Given the description of an element on the screen output the (x, y) to click on. 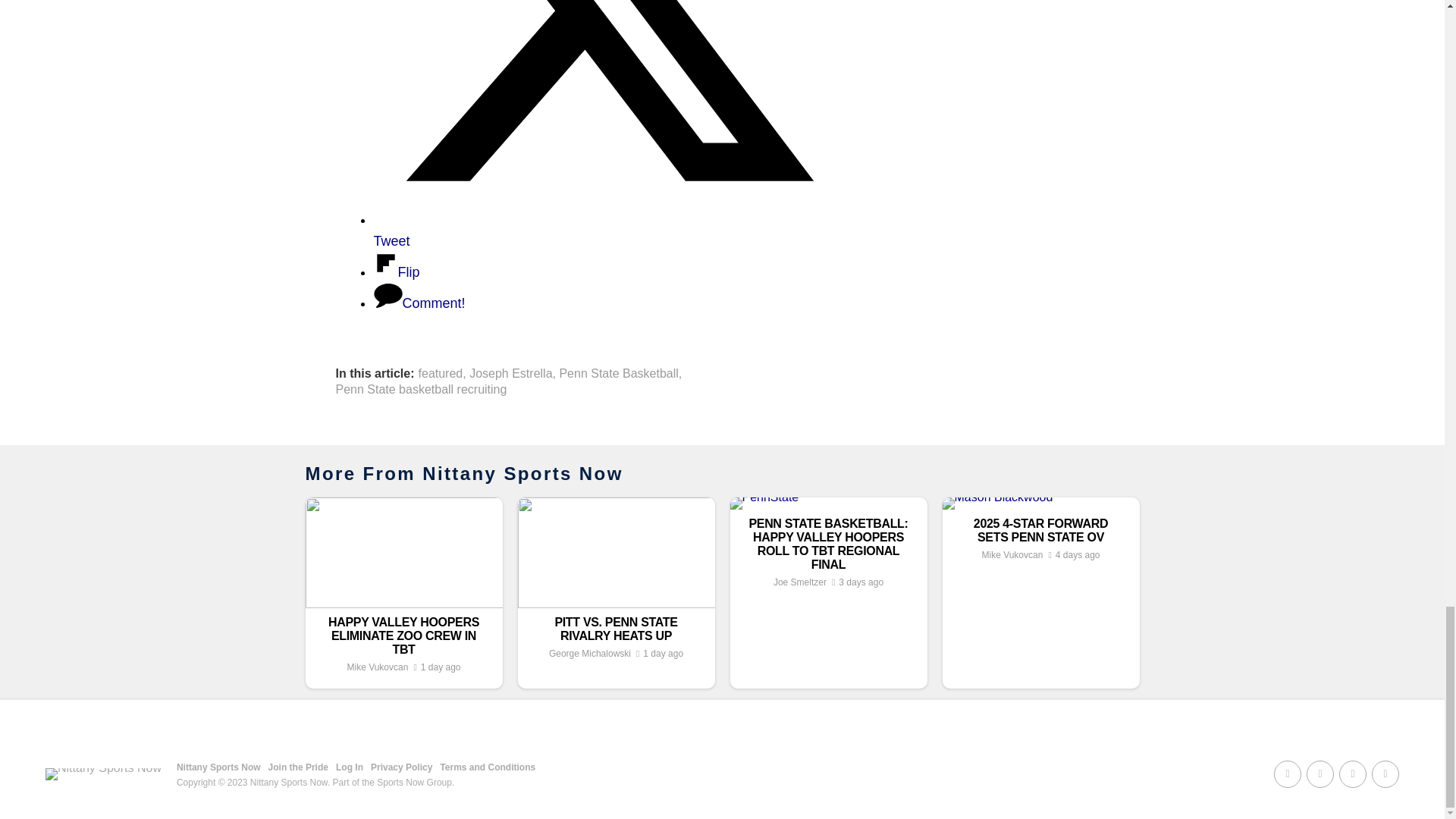
Share on Flip (395, 272)
Share on Comment! (418, 303)
Share on Tweet (603, 230)
Posts by Mike Vukovcan (376, 666)
Posts by Joe Smeltzer (800, 582)
Posts by George Michalowski (589, 653)
Posts by Mike Vukovcan (1011, 554)
